Given the description of an element on the screen output the (x, y) to click on. 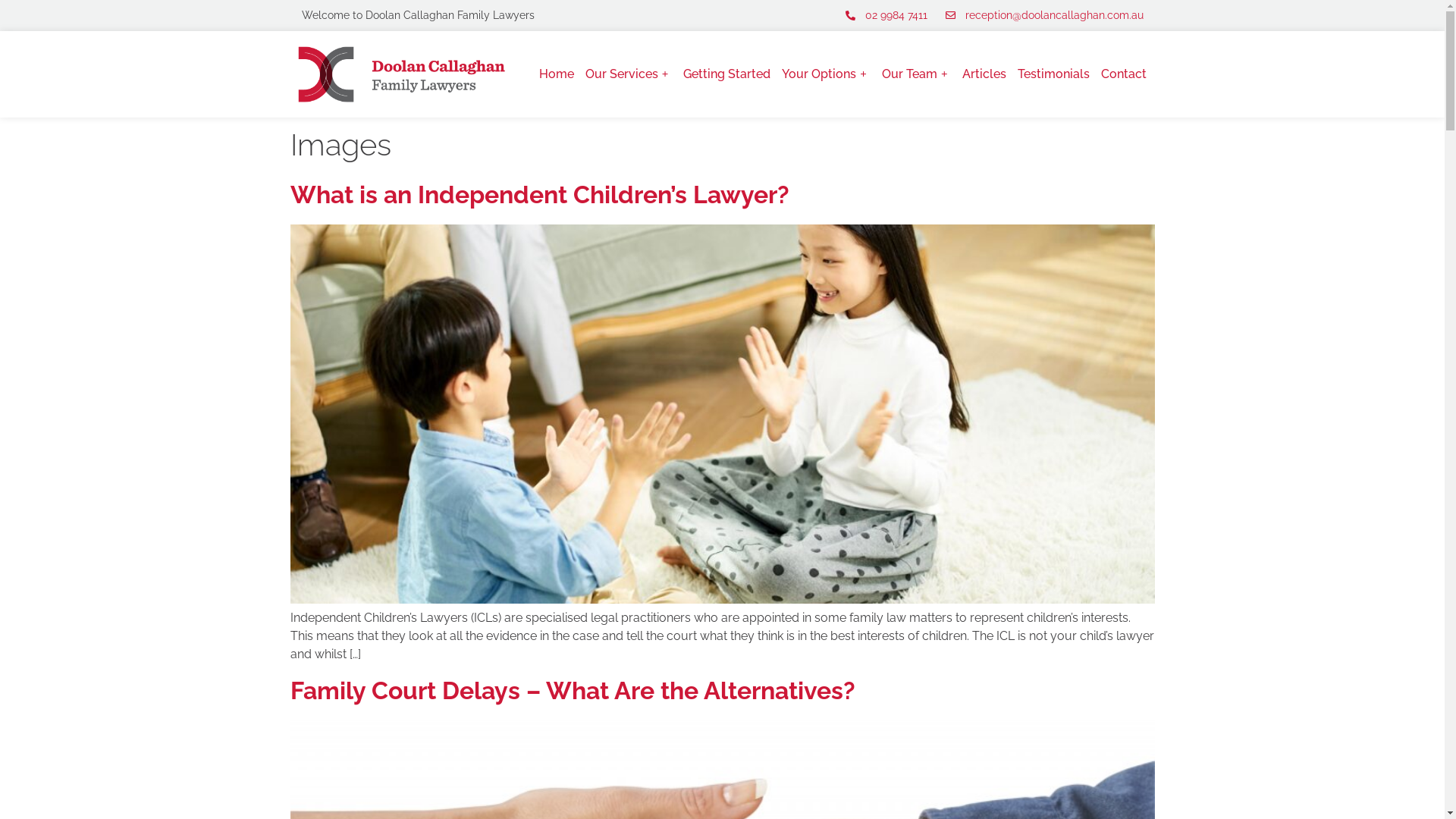
Our Team Element type: text (916, 73)
Testimonials Element type: text (1053, 73)
Articles Element type: text (984, 73)
Getting Started Element type: text (726, 73)
02 9984 7411 Element type: text (885, 15)
Your Options Element type: text (825, 73)
Contact Element type: text (1123, 73)
Home Element type: text (556, 73)
Our Services Element type: text (628, 73)
reception@doolancallaghan.com.au Element type: text (1042, 15)
